Given the description of an element on the screen output the (x, y) to click on. 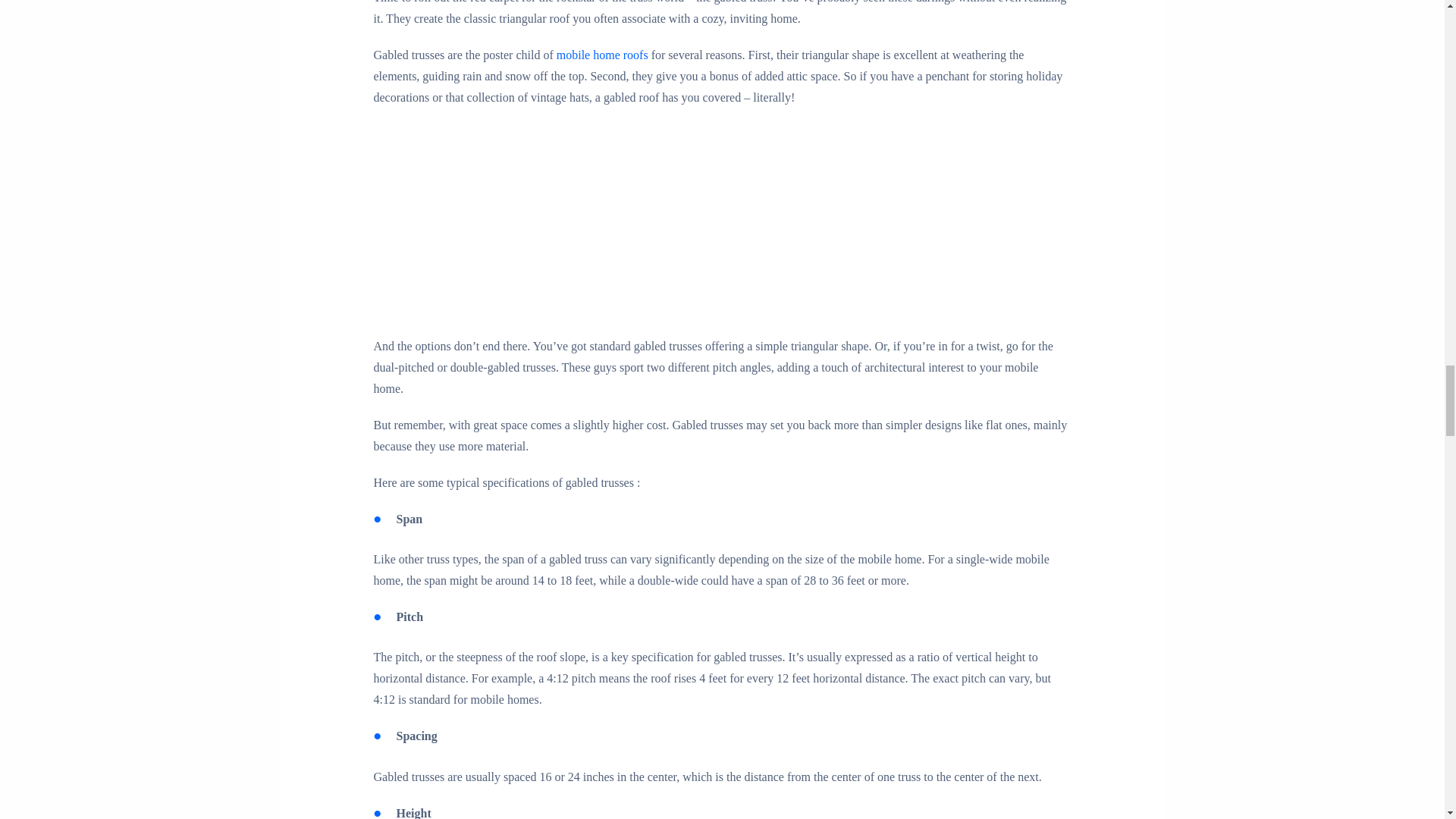
mobile home roofs (601, 54)
